Given the description of an element on the screen output the (x, y) to click on. 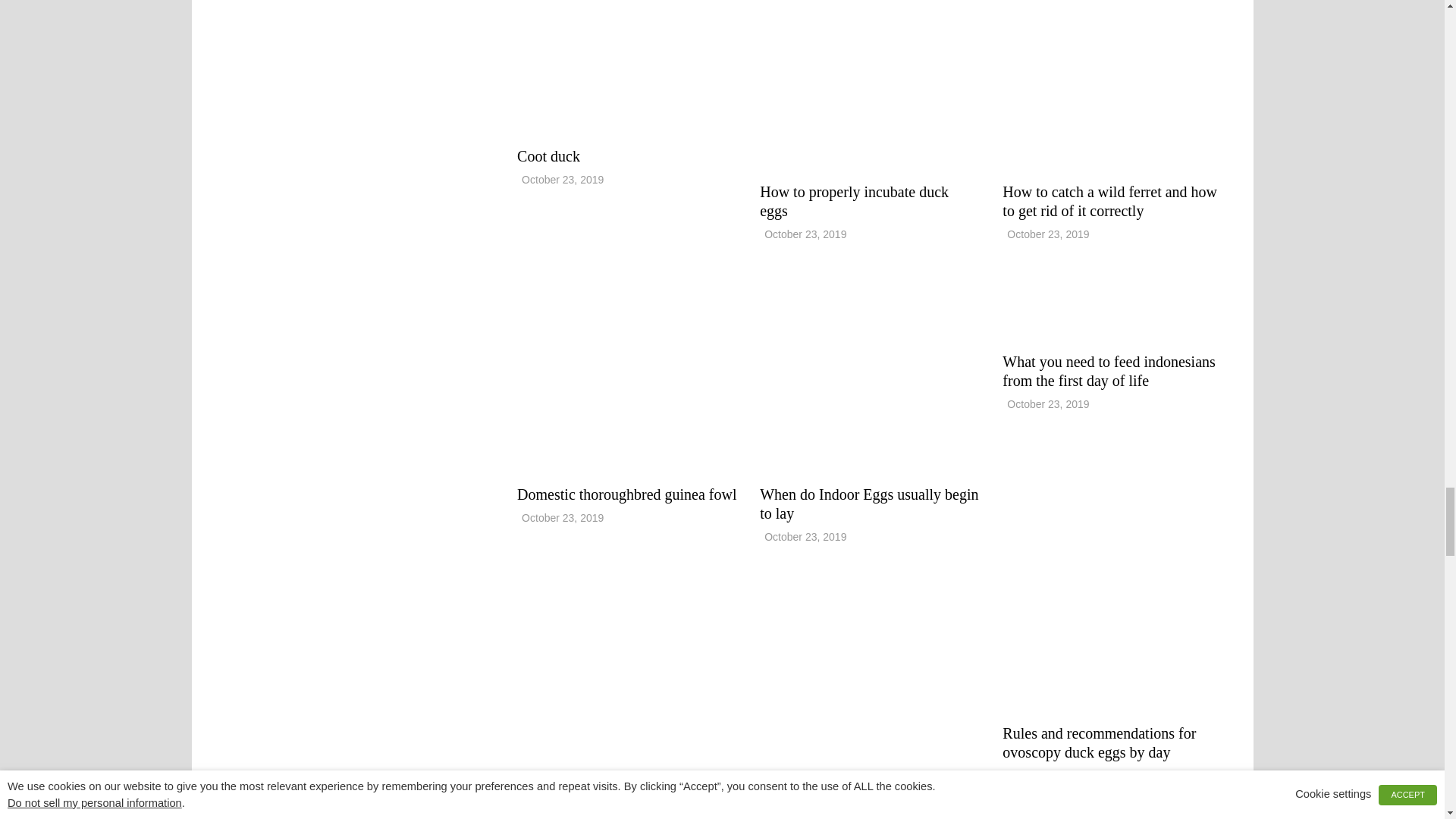
Coot duck (626, 65)
Coot duck (547, 156)
How to properly incubate duck eggs (854, 201)
Domestic thoroughbred guinea fowl (626, 494)
